Given the description of an element on the screen output the (x, y) to click on. 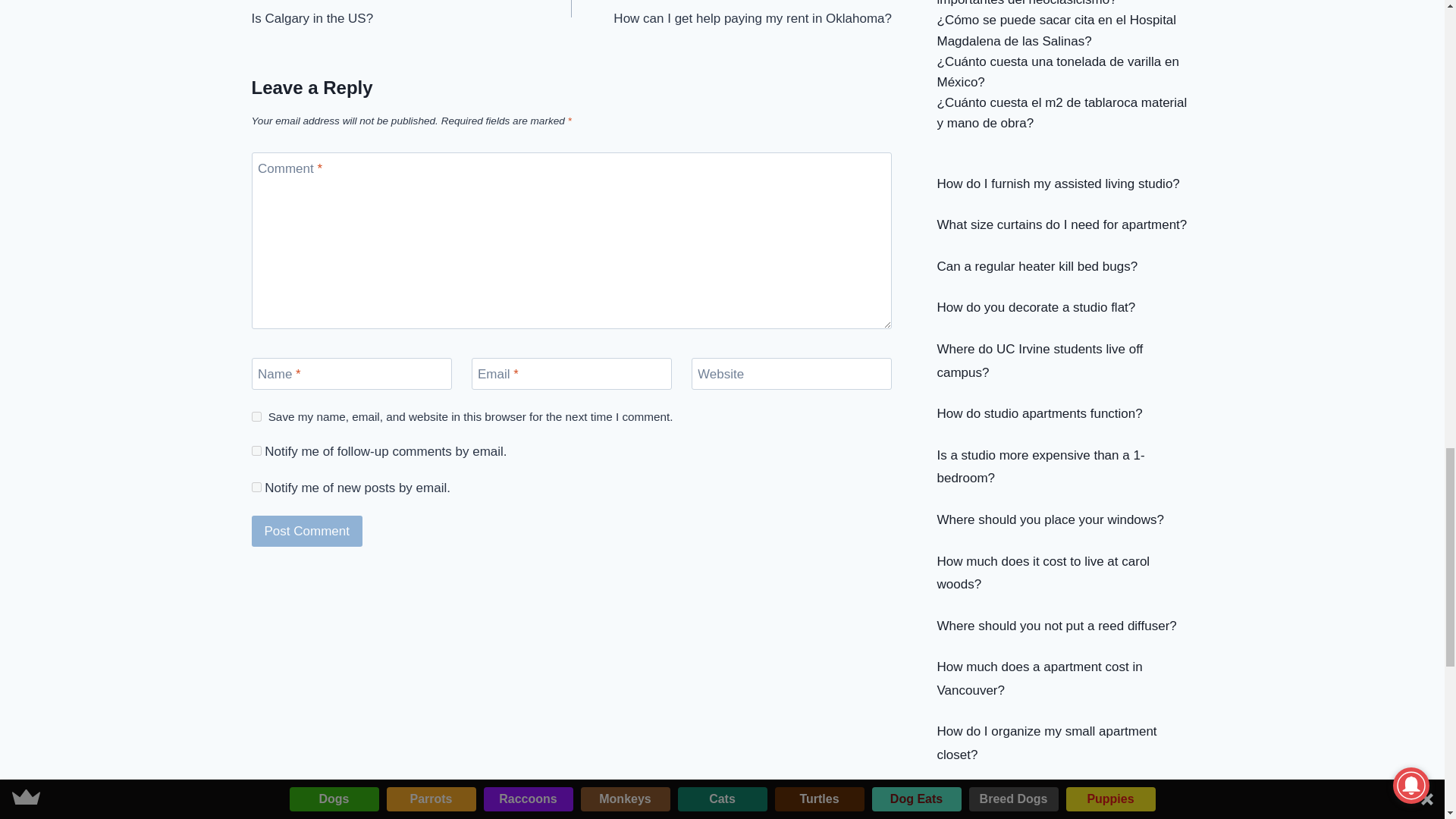
subscribe (256, 487)
Post Comment (731, 14)
yes (306, 531)
subscribe (256, 416)
Post Comment (411, 14)
